Given the description of an element on the screen output the (x, y) to click on. 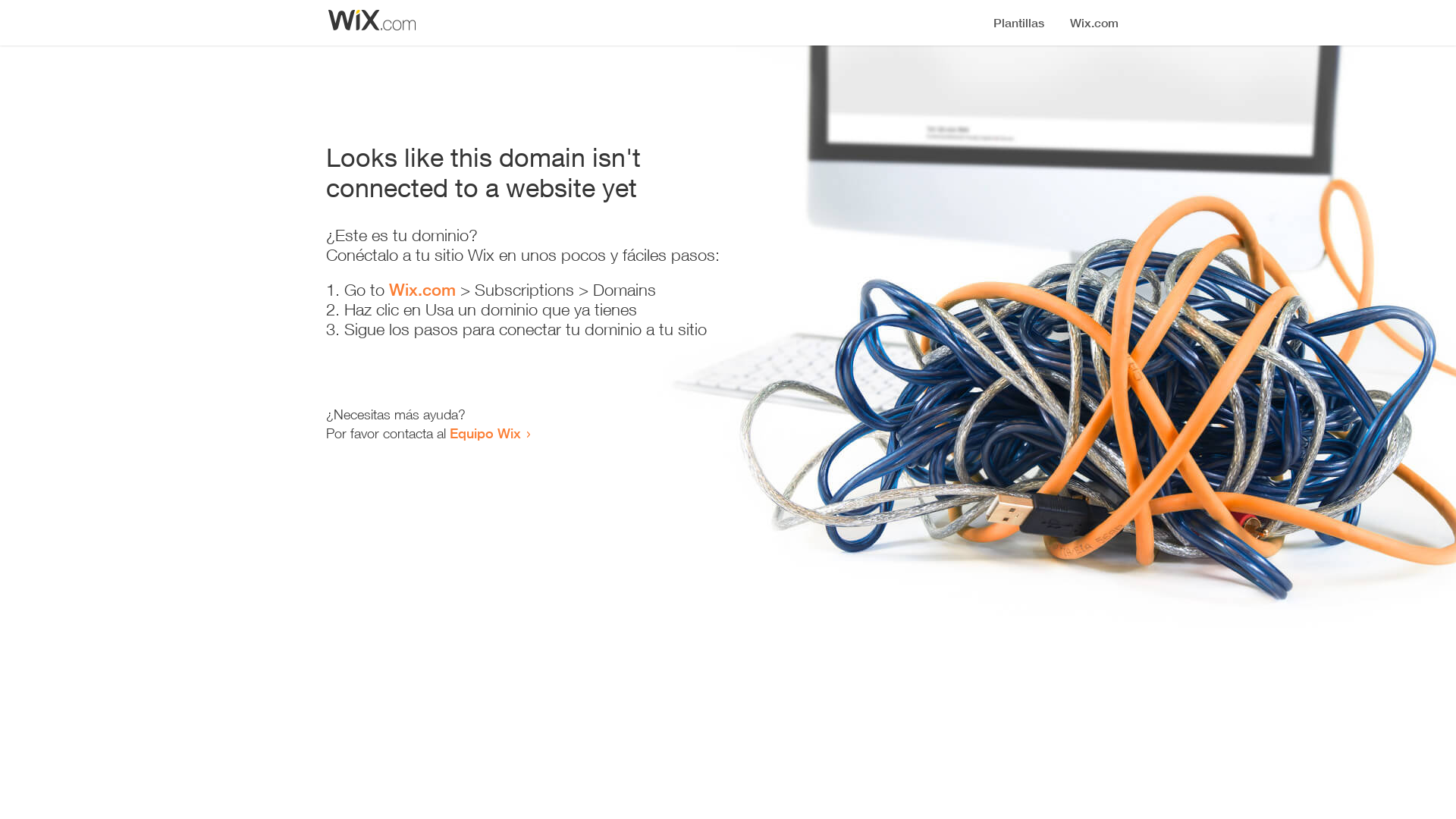
Wix.com Element type: text (422, 289)
Equipo Wix Element type: text (484, 432)
